Given the description of an element on the screen output the (x, y) to click on. 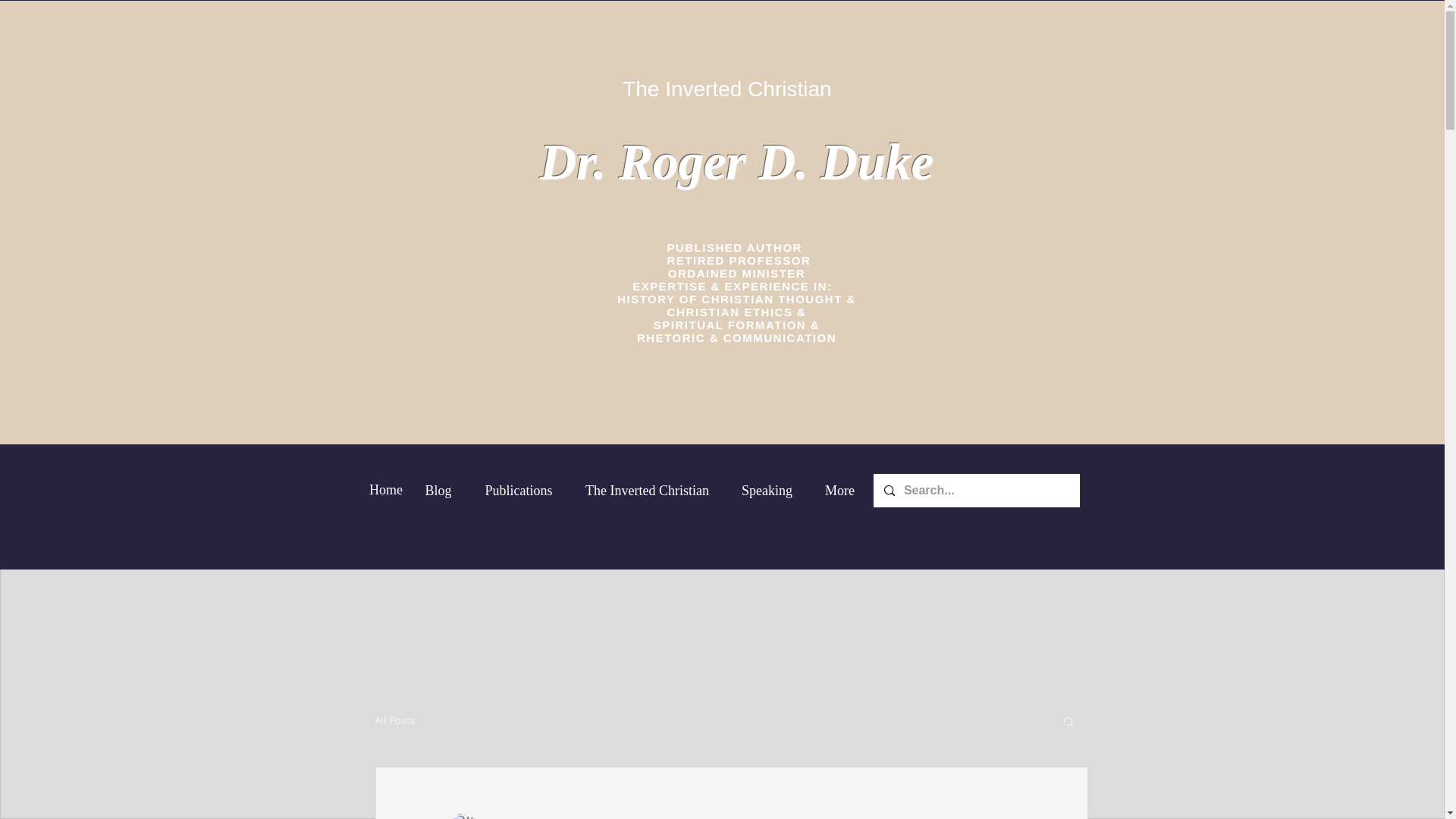
Blog (437, 491)
Dr. Roger D Duke (520, 818)
All Posts (394, 721)
Home (385, 490)
The Inverted Christian (647, 491)
Publications (518, 491)
 RETIRED PROFESSOR (736, 259)
PUBLISHED AUTHOR  (736, 246)
Speaking (766, 491)
Dr. Roger D. Duke (736, 161)
